Given the description of an element on the screen output the (x, y) to click on. 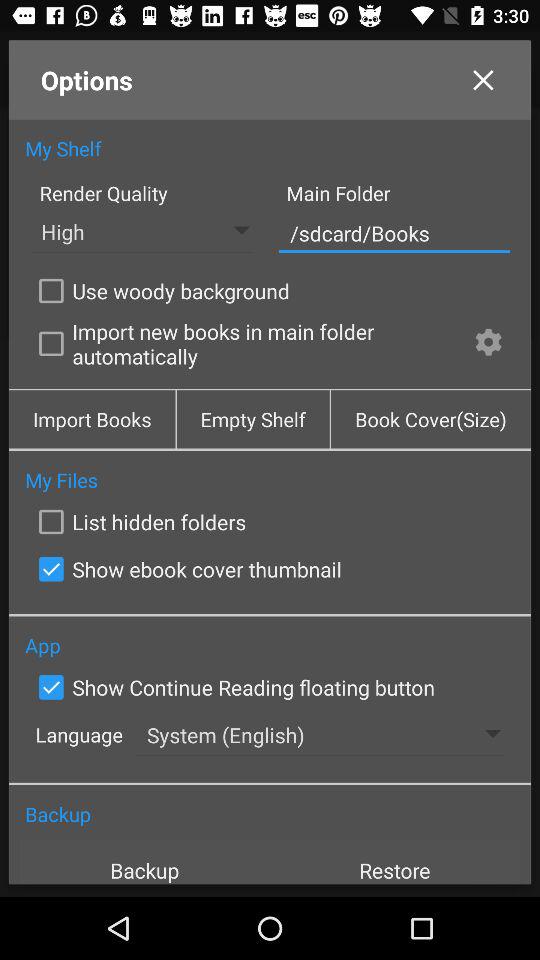
launch the item below the app icon (232, 687)
